Given the description of an element on the screen output the (x, y) to click on. 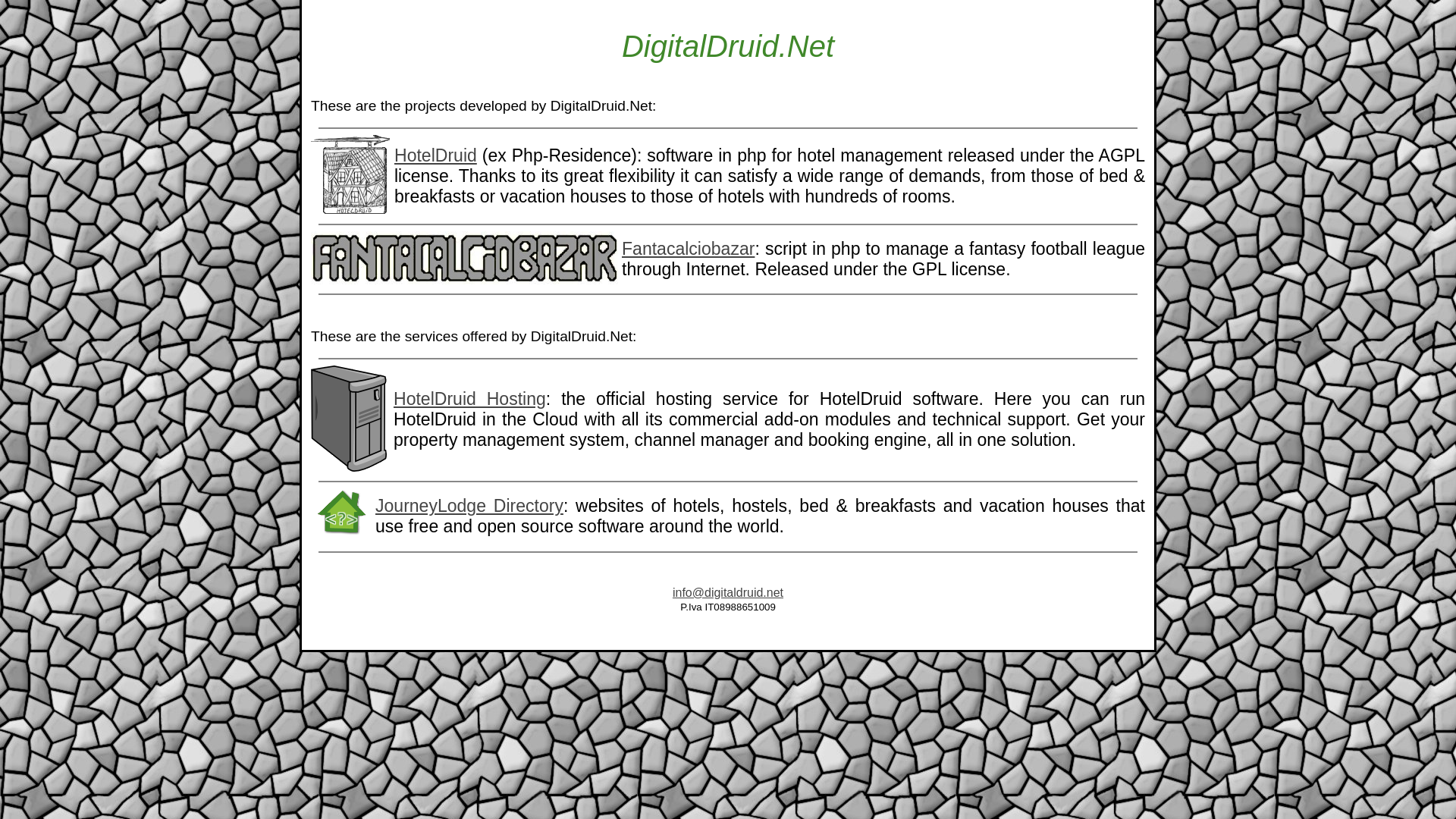
JourneyLodge Directory (469, 505)
HotelDruid Hosting (469, 398)
Fantacalciobazar (687, 248)
HotelDruid (435, 155)
